Given the description of an element on the screen output the (x, y) to click on. 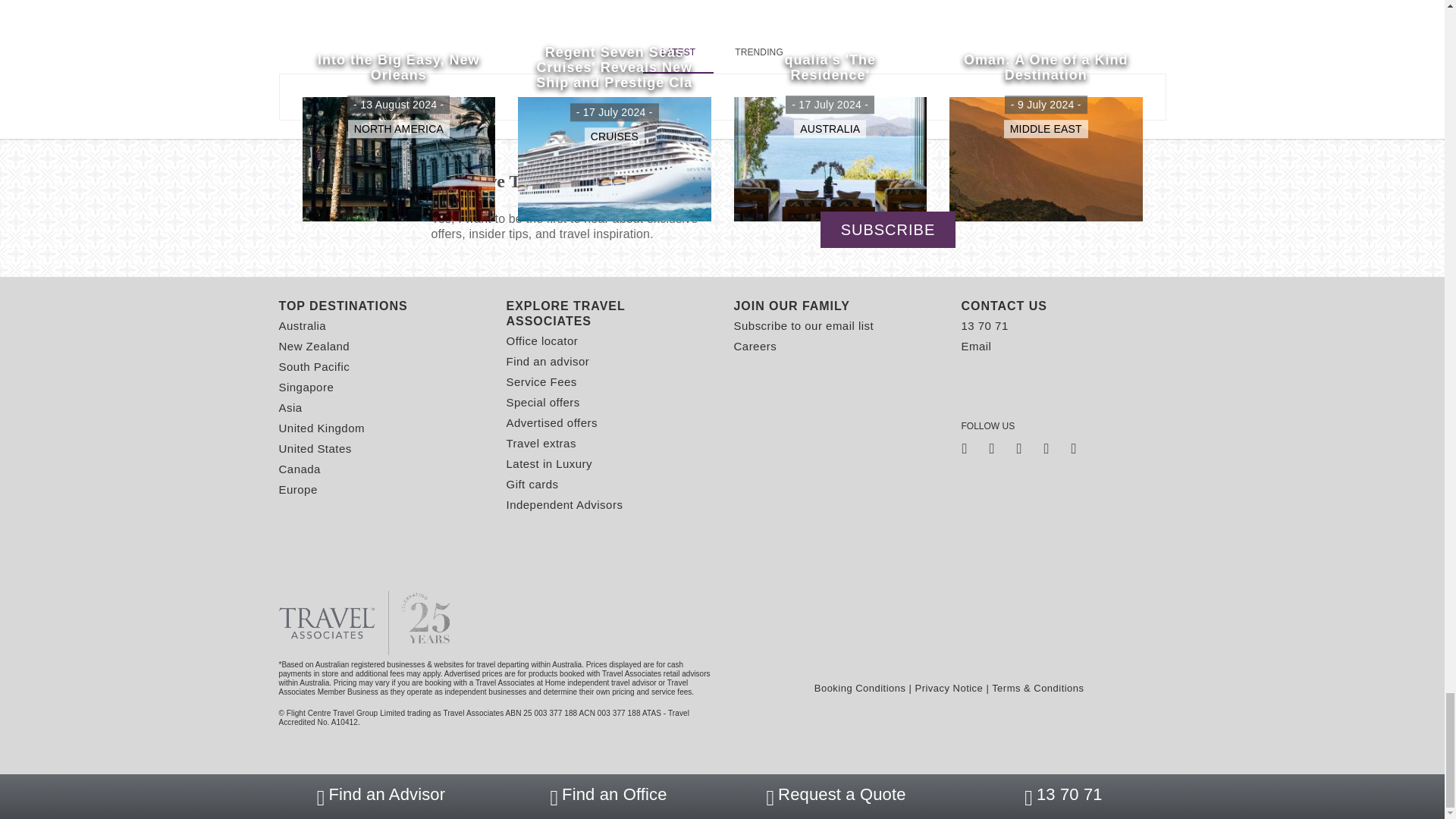
Contact Us (1063, 305)
Top Destinations (381, 305)
Join our family (836, 305)
Explore Travel Associates (608, 313)
